Given the description of an element on the screen output the (x, y) to click on. 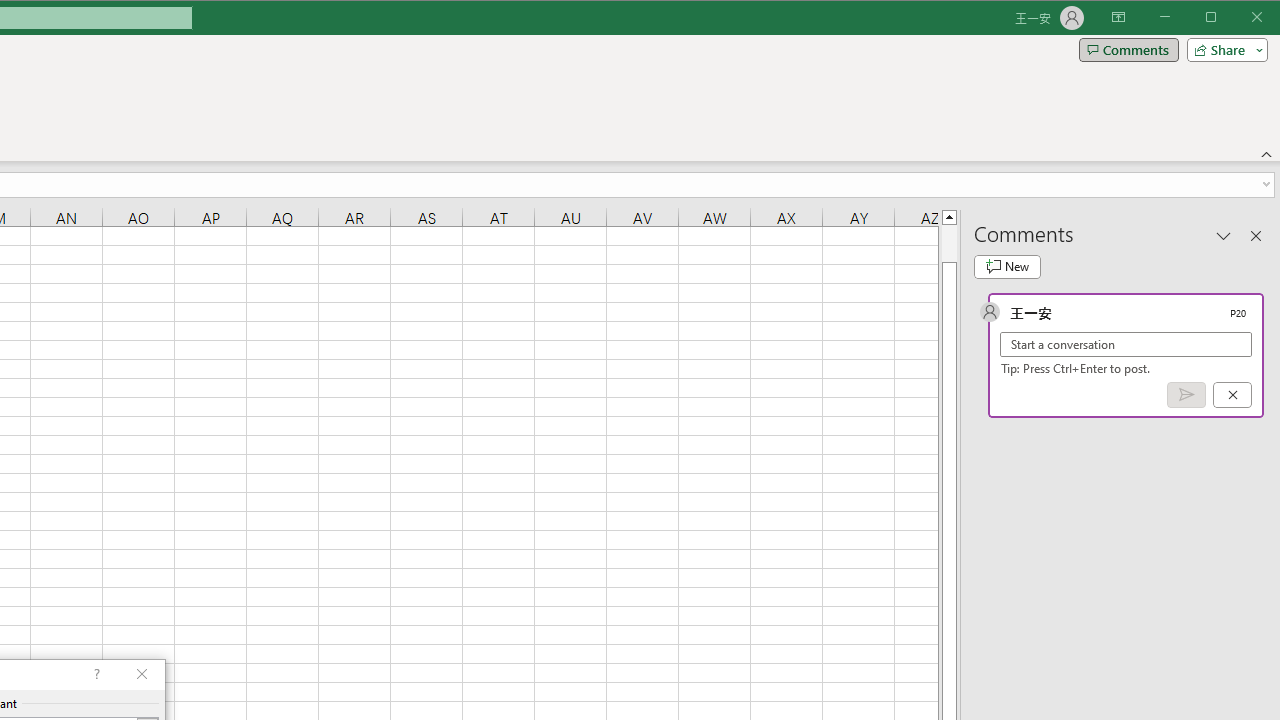
Page up (948, 243)
